Given the description of an element on the screen output the (x, y) to click on. 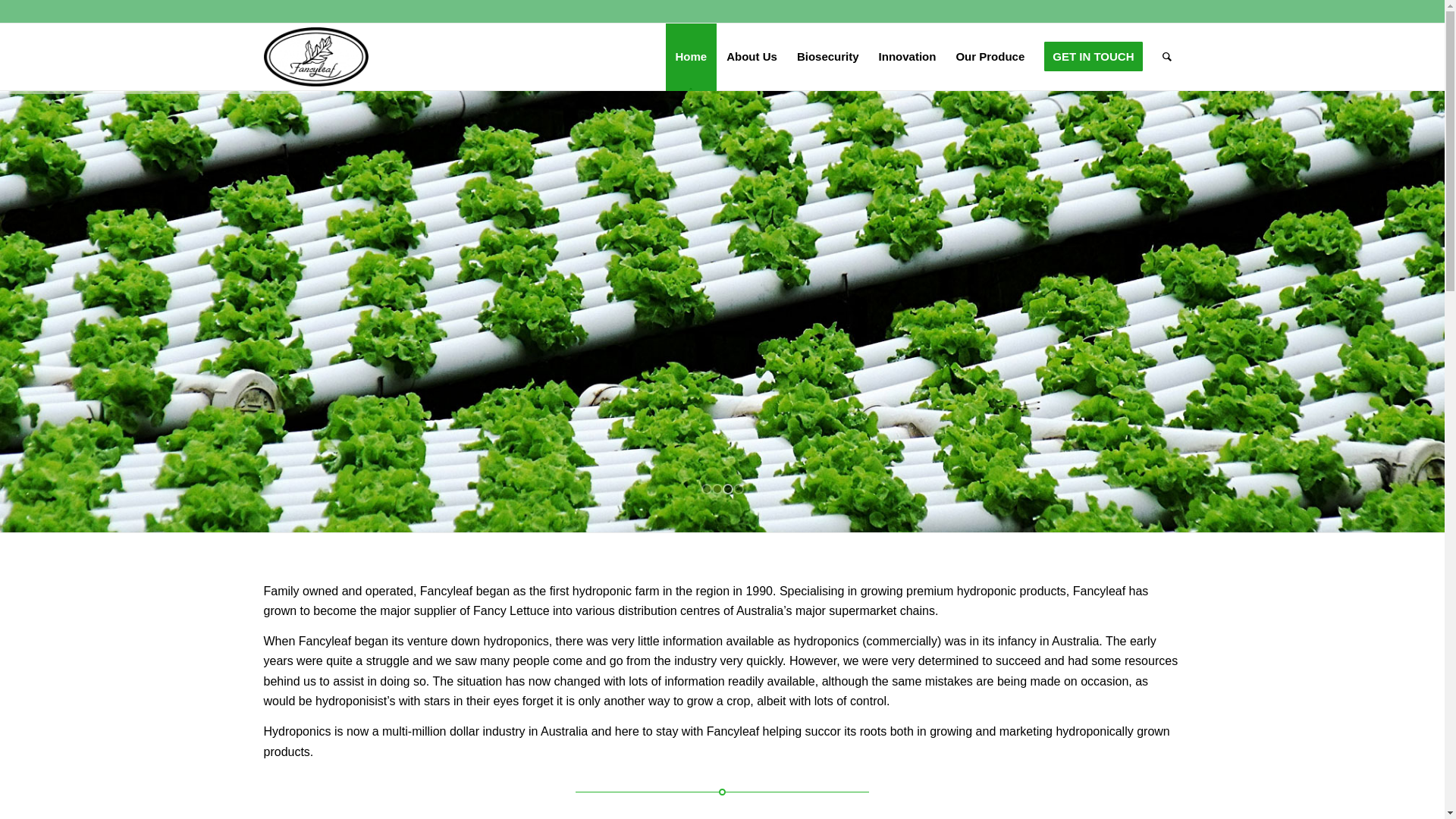
About Us Element type: text (751, 56)
Home Element type: text (691, 56)
Innovation Element type: text (907, 56)
Our Produce Element type: text (989, 56)
Biosecurity Element type: text (828, 56)
GET IN TOUCH Element type: text (1092, 56)
